Given the description of an element on the screen output the (x, y) to click on. 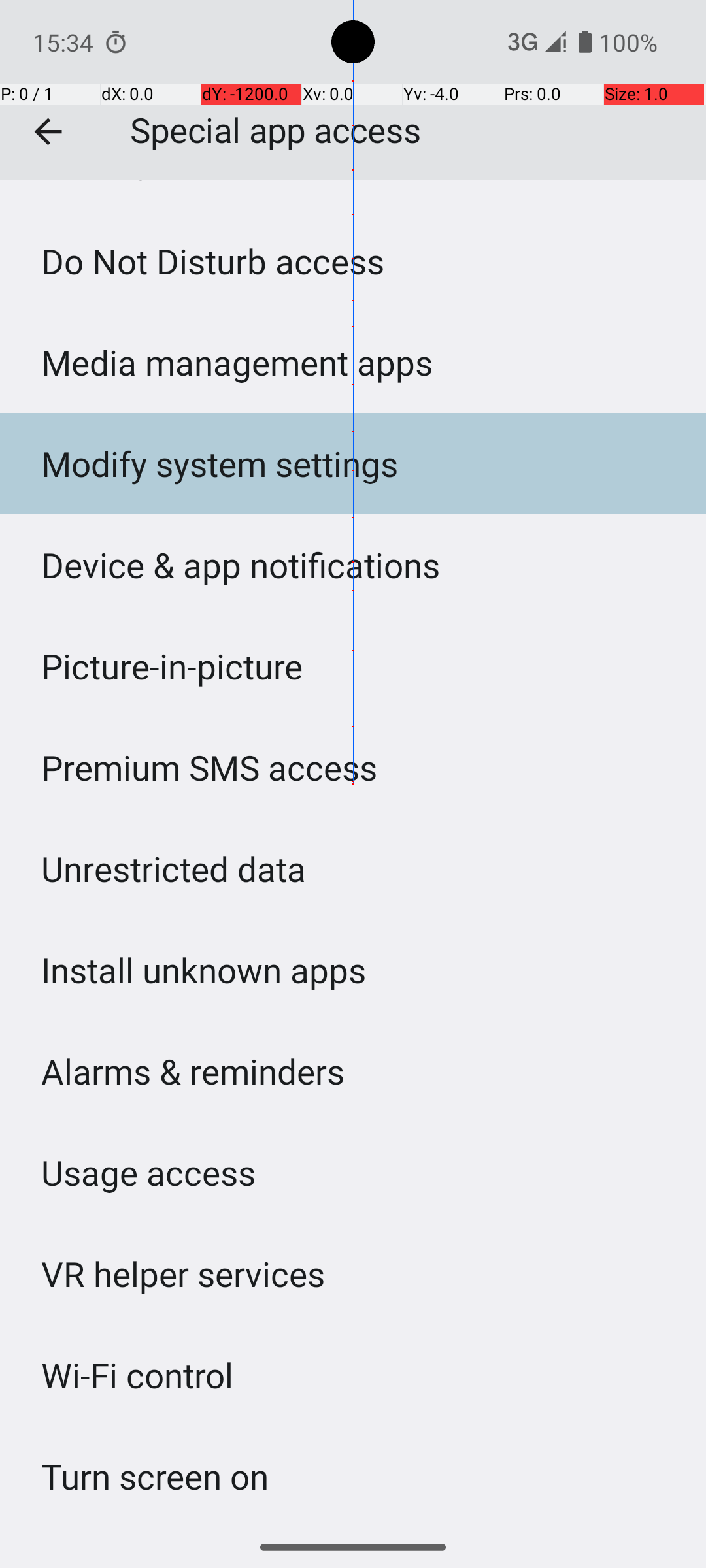
Special app access Element type: android.widget.FrameLayout (353, 89)
Display over other apps Element type: android.widget.TextView (220, 180)
Do Not Disturb access Element type: android.widget.TextView (212, 260)
Media management apps Element type: android.widget.TextView (236, 362)
Modify system settings Element type: android.widget.TextView (219, 463)
Device & app notifications Element type: android.widget.TextView (240, 564)
Picture-in-picture Element type: android.widget.TextView (172, 665)
Premium SMS access Element type: android.widget.TextView (209, 767)
Unrestricted data Element type: android.widget.TextView (173, 868)
Install unknown apps Element type: android.widget.TextView (203, 969)
Alarms & reminders Element type: android.widget.TextView (192, 1070)
Usage access Element type: android.widget.TextView (148, 1172)
VR helper services Element type: android.widget.TextView (183, 1273)
Wi-Fi control Element type: android.widget.TextView (137, 1374)
Turn screen on Element type: android.widget.TextView (155, 1476)
